Given the description of an element on the screen output the (x, y) to click on. 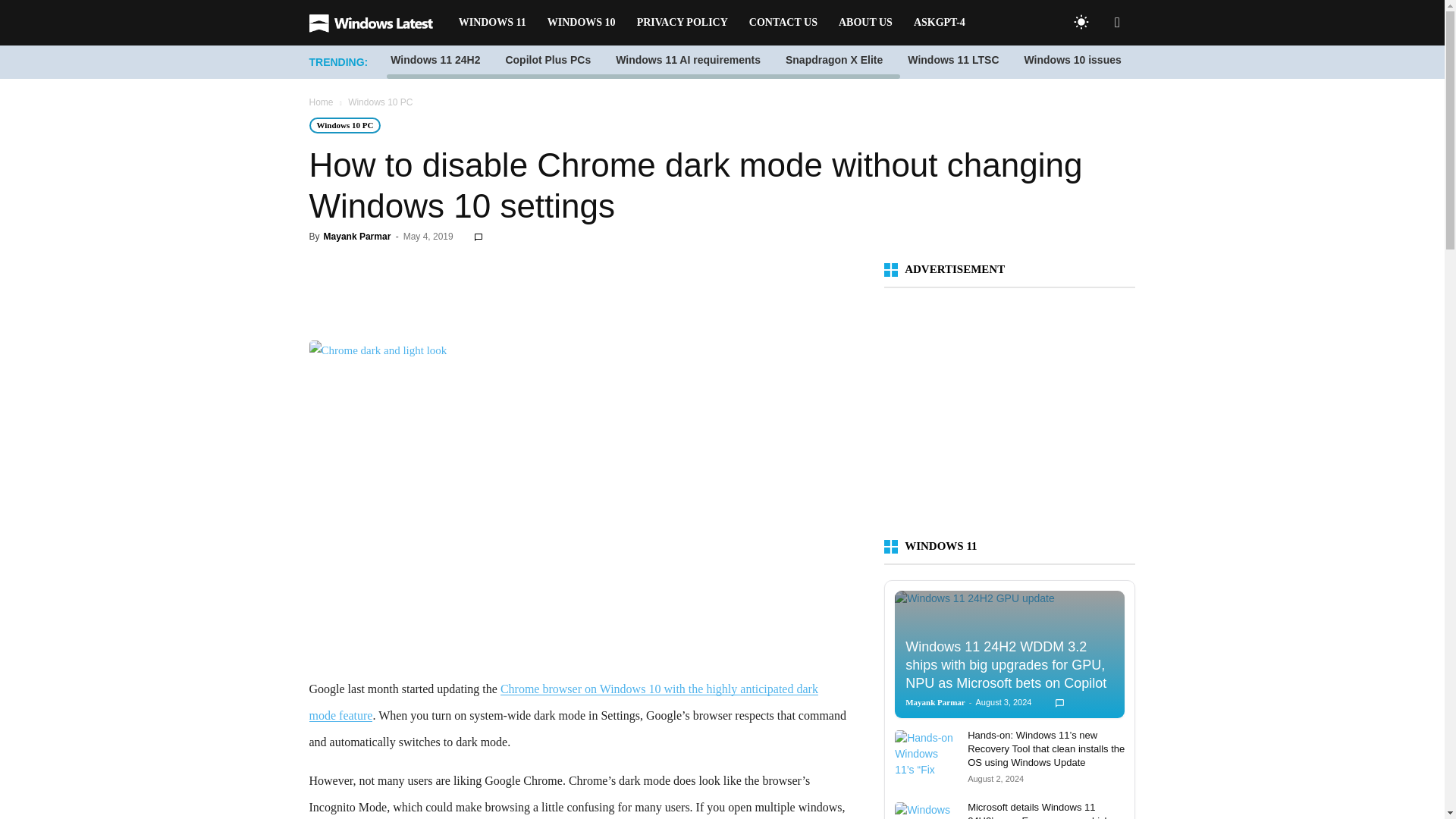
WINDOWS 11 (492, 22)
WINDOWS 10 (581, 22)
Windows Latest (378, 22)
